Given the description of an element on the screen output the (x, y) to click on. 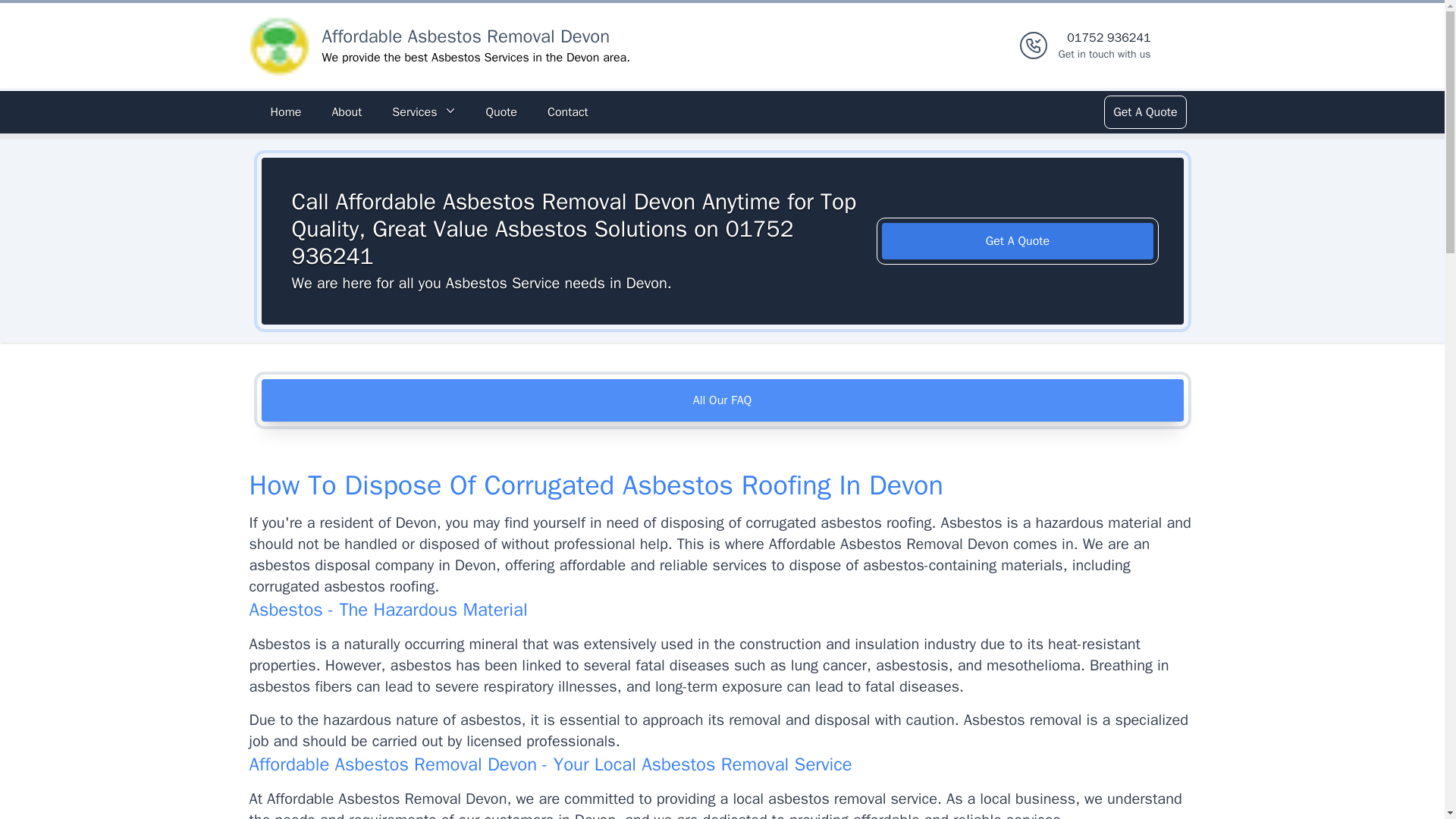
About (346, 112)
Services (423, 112)
Affordable Asbestos Removal Devon (1104, 45)
Home (465, 36)
All Our FAQ (285, 112)
Quote (721, 400)
Get A Quote (500, 112)
Get A Quote (1017, 240)
Logo (1144, 112)
